Given the description of an element on the screen output the (x, y) to click on. 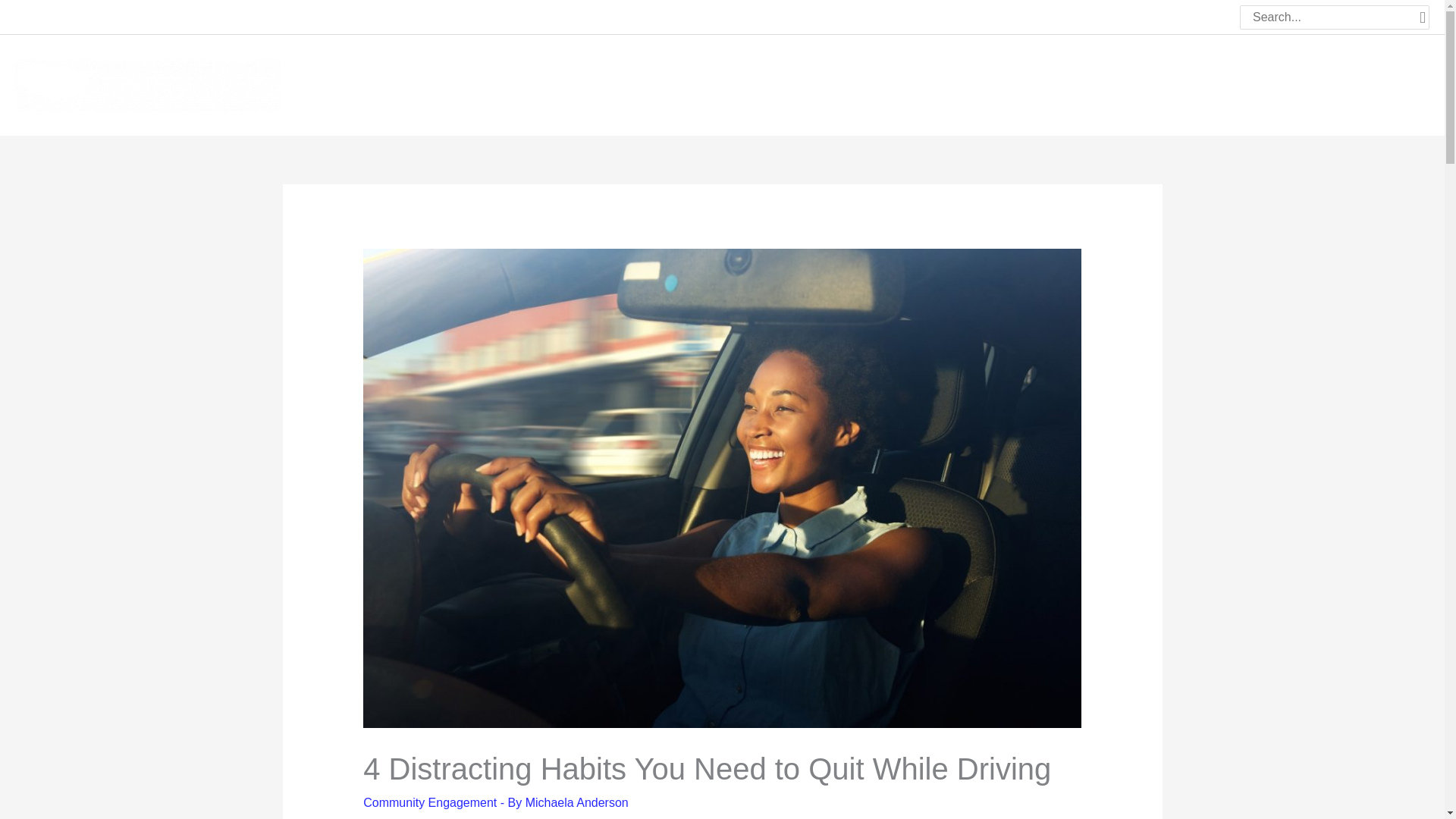
Community Engagement (996, 83)
Philanthropy and Giving (1230, 83)
Advocacy (1114, 83)
Michaela Anderson (576, 802)
Sustainable Living (1367, 83)
View all posts by Michaela Anderson (576, 802)
Community Engagement (429, 802)
